Given the description of an element on the screen output the (x, y) to click on. 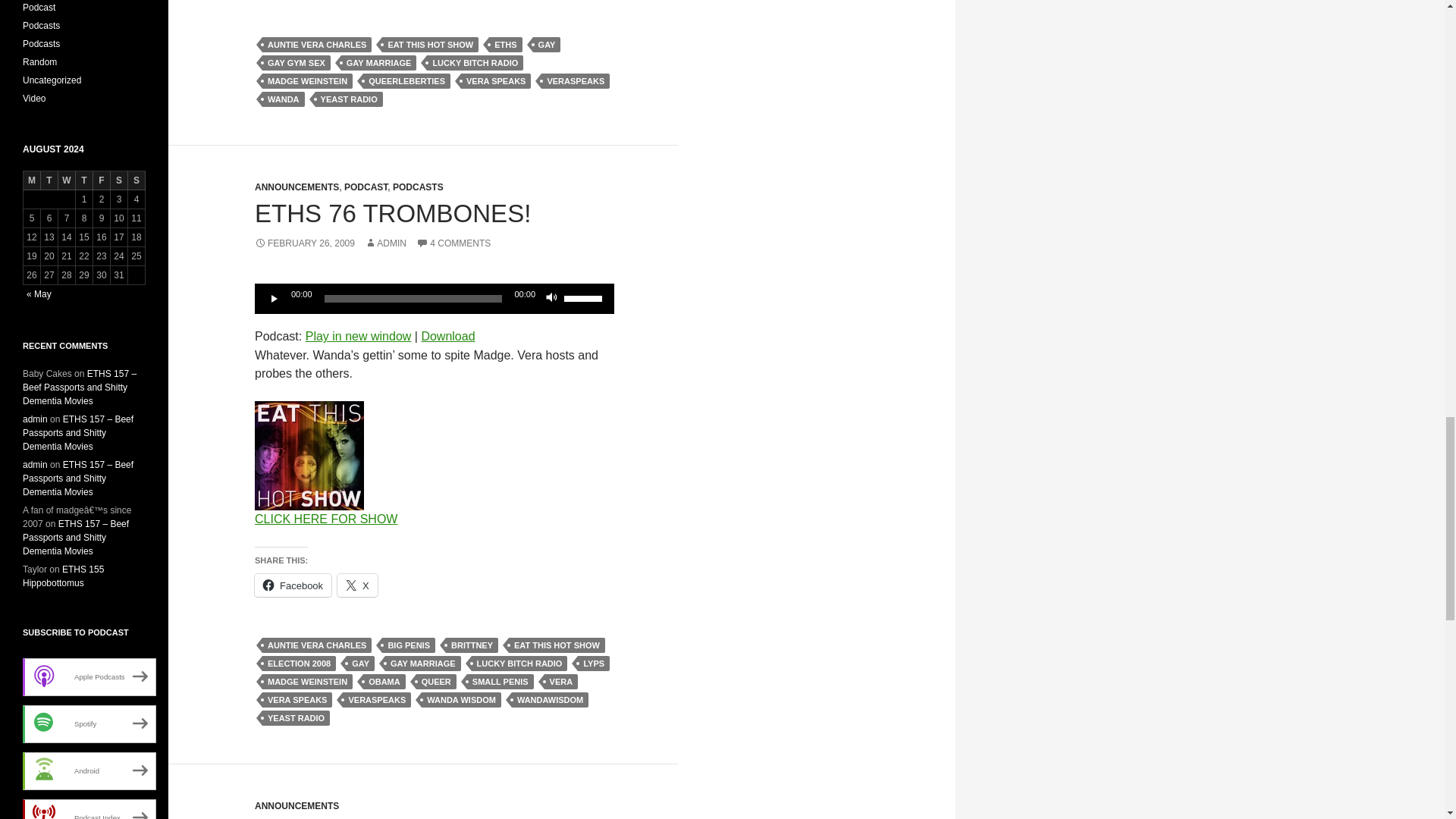
LUCKY BITCH RADIO (474, 62)
AUNTIE VERA CHARLES (316, 44)
Mute (551, 298)
GAY GYM SEX (296, 62)
GAY MARRIAGE (378, 62)
EAT THIS HOT SHOW (430, 44)
MADGE WEINSTEIN (307, 80)
GAY (546, 44)
Click to share on X (357, 585)
Download (447, 336)
Click to share on Facebook (292, 585)
ETHS (505, 44)
Play (274, 298)
Play in new window (358, 336)
